Given the description of an element on the screen output the (x, y) to click on. 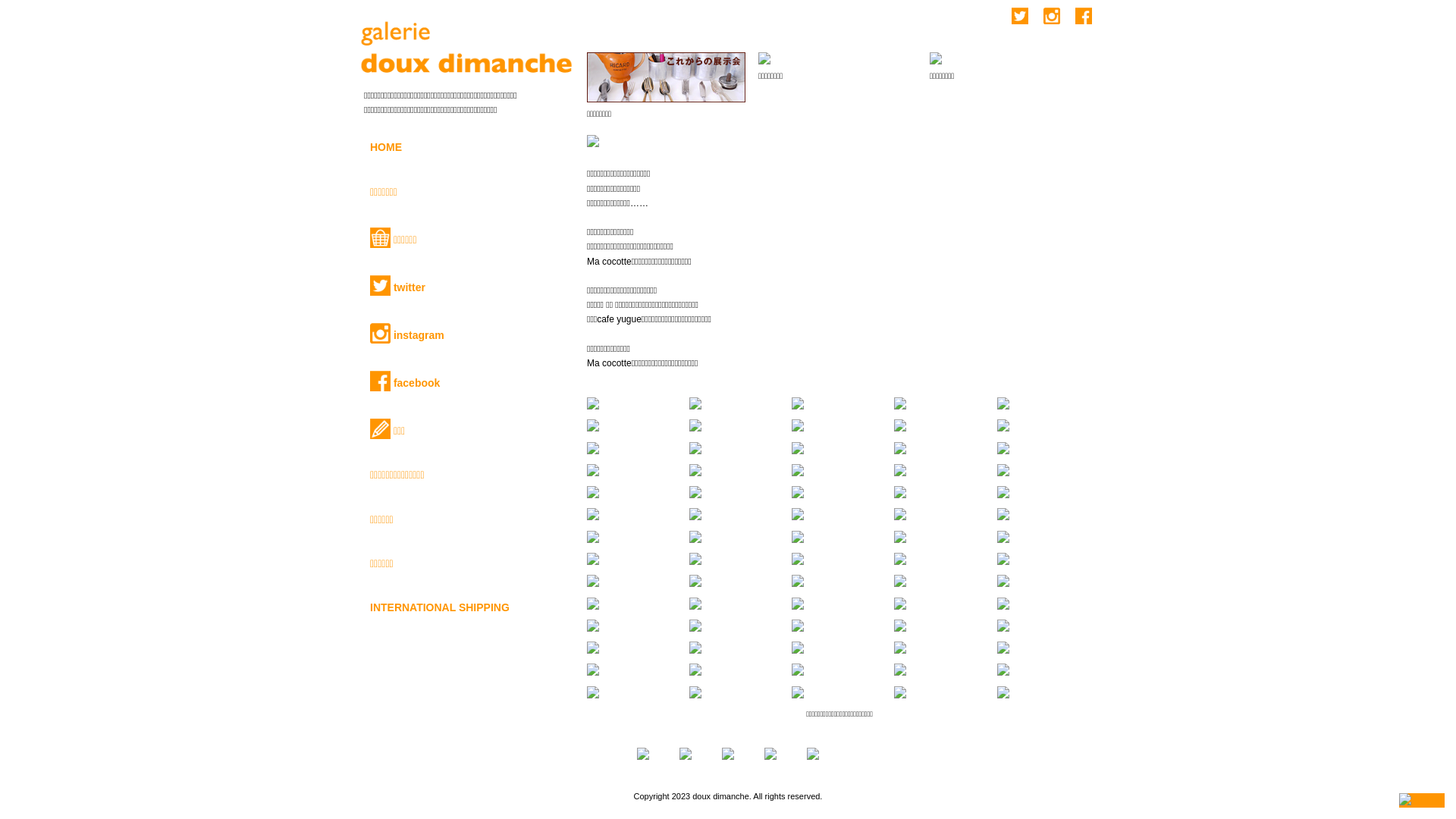
twitter Element type: text (467, 285)
INTERNATIONAL SHIPPING Element type: text (467, 607)
instagram Element type: text (467, 333)
facebook Element type: text (467, 380)
HOME Element type: text (467, 147)
